Given the description of an element on the screen output the (x, y) to click on. 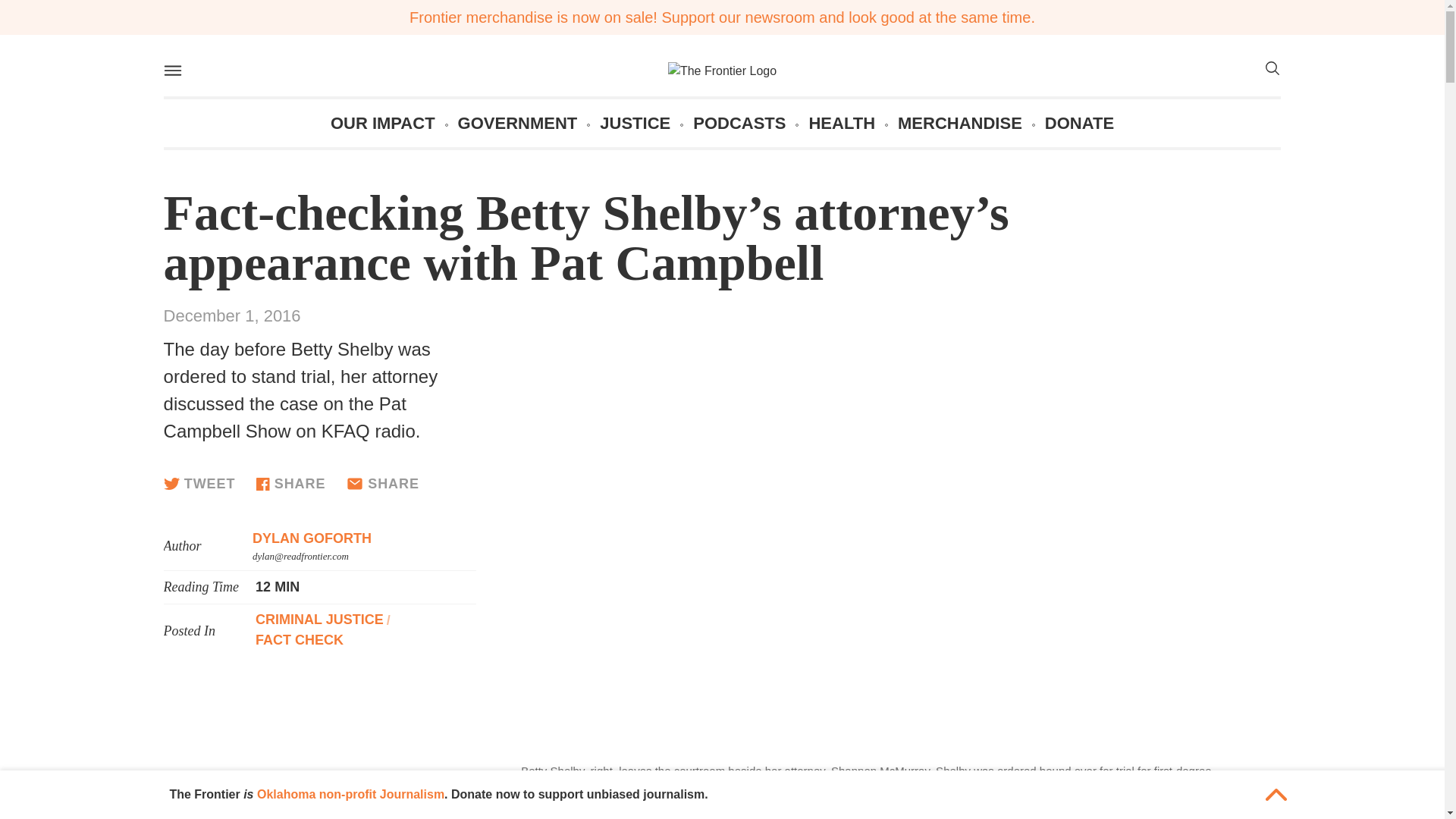
DYLAN GOFORTH (311, 538)
SHARE (290, 483)
TWEET (199, 483)
MERCHANDISE (960, 122)
SHARE (382, 483)
SEARCH-OUTLINE (1271, 70)
HEALTH (841, 122)
GOVERNMENT (518, 122)
OUR IMPACT (382, 122)
SEARCH-OUTLINE (1271, 67)
